Given the description of an element on the screen output the (x, y) to click on. 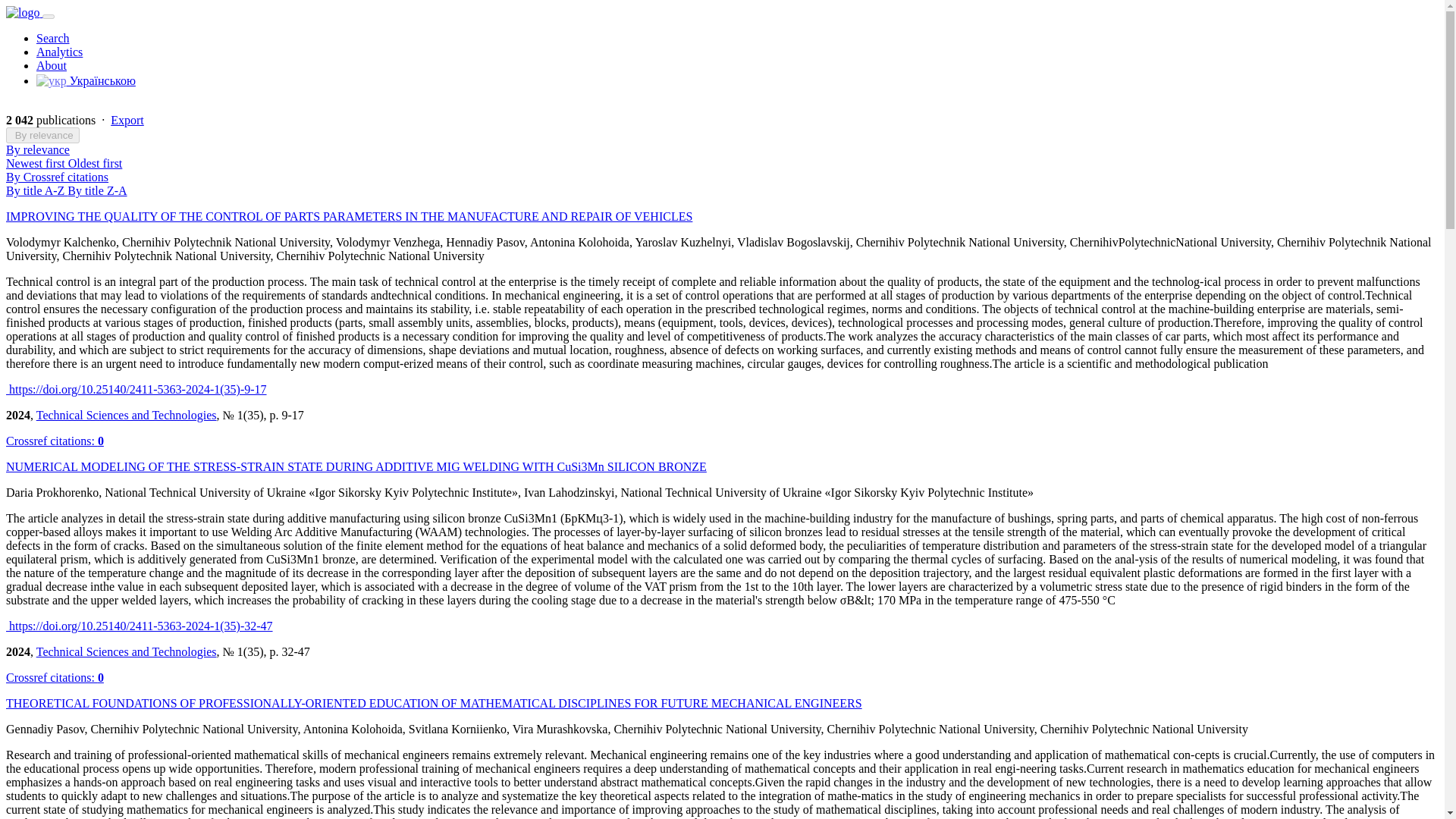
Search (52, 38)
By title A-Z (35, 190)
Crossref citations: 0 (54, 676)
Analytics (59, 51)
Technical Sciences and Technologies (126, 414)
Newest first (36, 163)
Technical Sciences and Technologies (126, 651)
By Crossref citations (56, 176)
By relevance (42, 135)
